Given the description of an element on the screen output the (x, y) to click on. 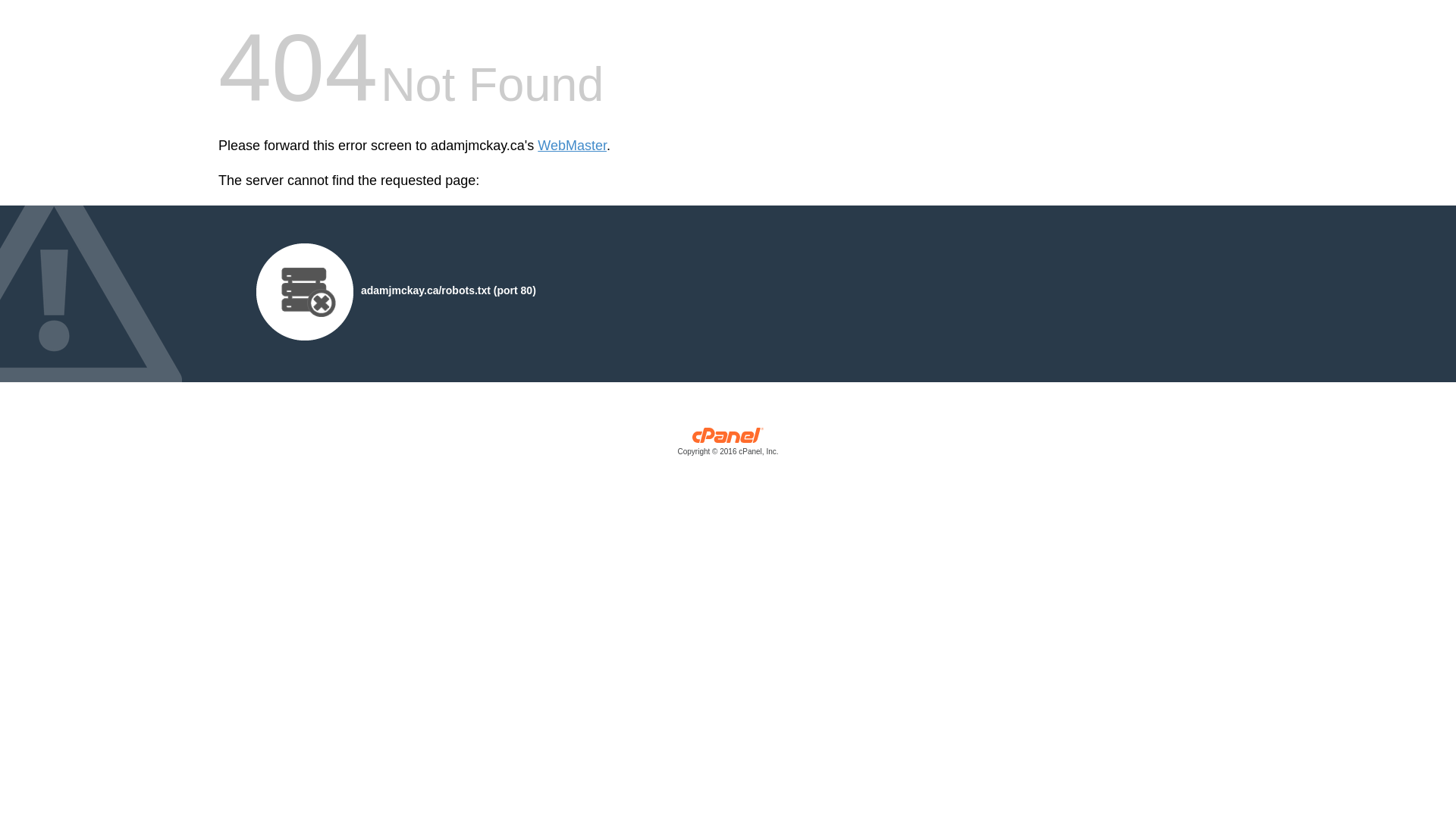
WebMaster Element type: text (571, 145)
